Given the description of an element on the screen output the (x, y) to click on. 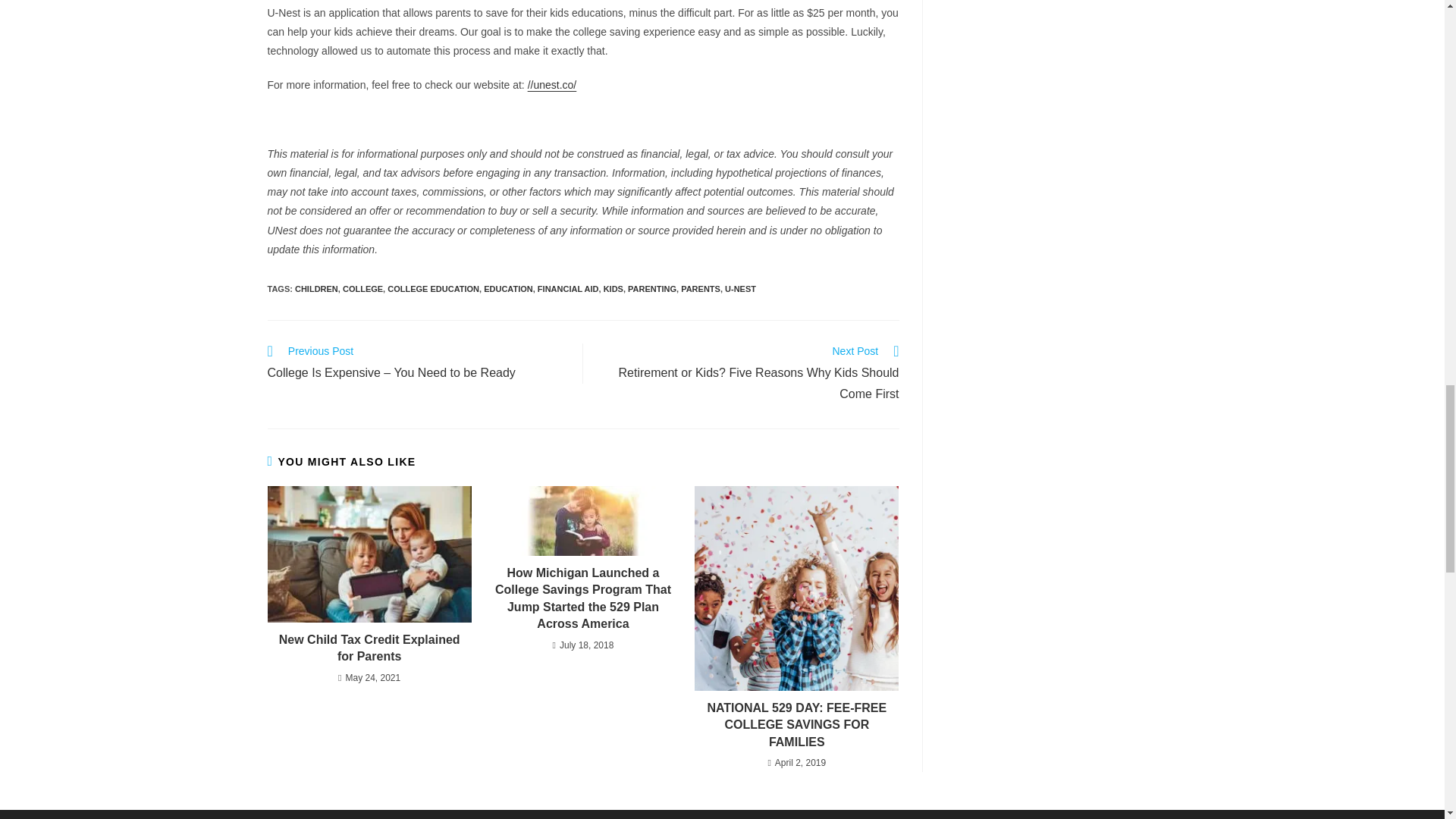
PARENTS (700, 288)
EDUCATION (507, 288)
CHILDREN (316, 288)
COLLEGE (362, 288)
FINANCIAL AID (567, 288)
PARENTING (652, 288)
COLLEGE EDUCATION (433, 288)
KIDS (613, 288)
